Given the description of an element on the screen output the (x, y) to click on. 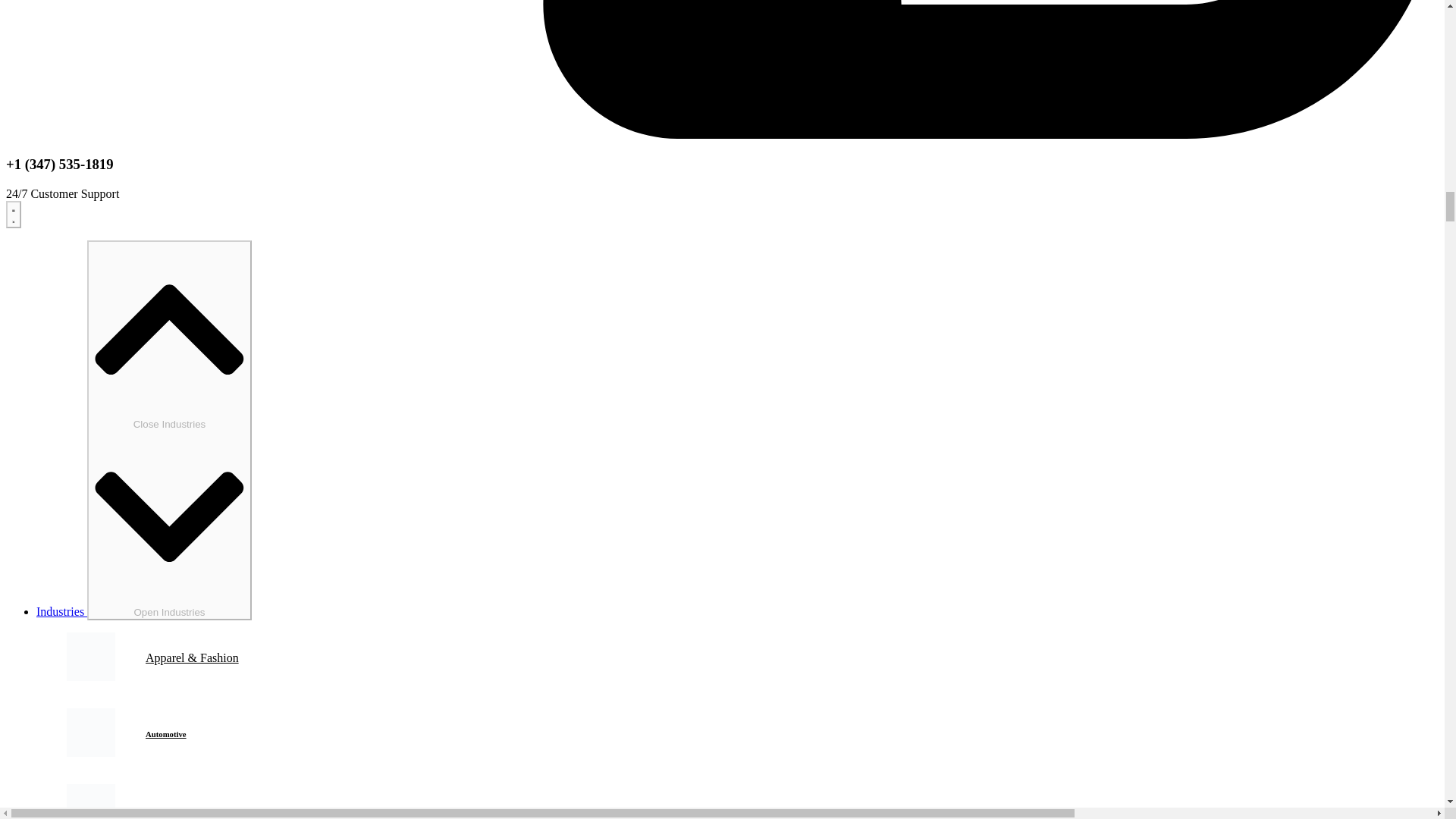
Automotive (165, 733)
Industries (61, 611)
Bakery (157, 809)
